Given the description of an element on the screen output the (x, y) to click on. 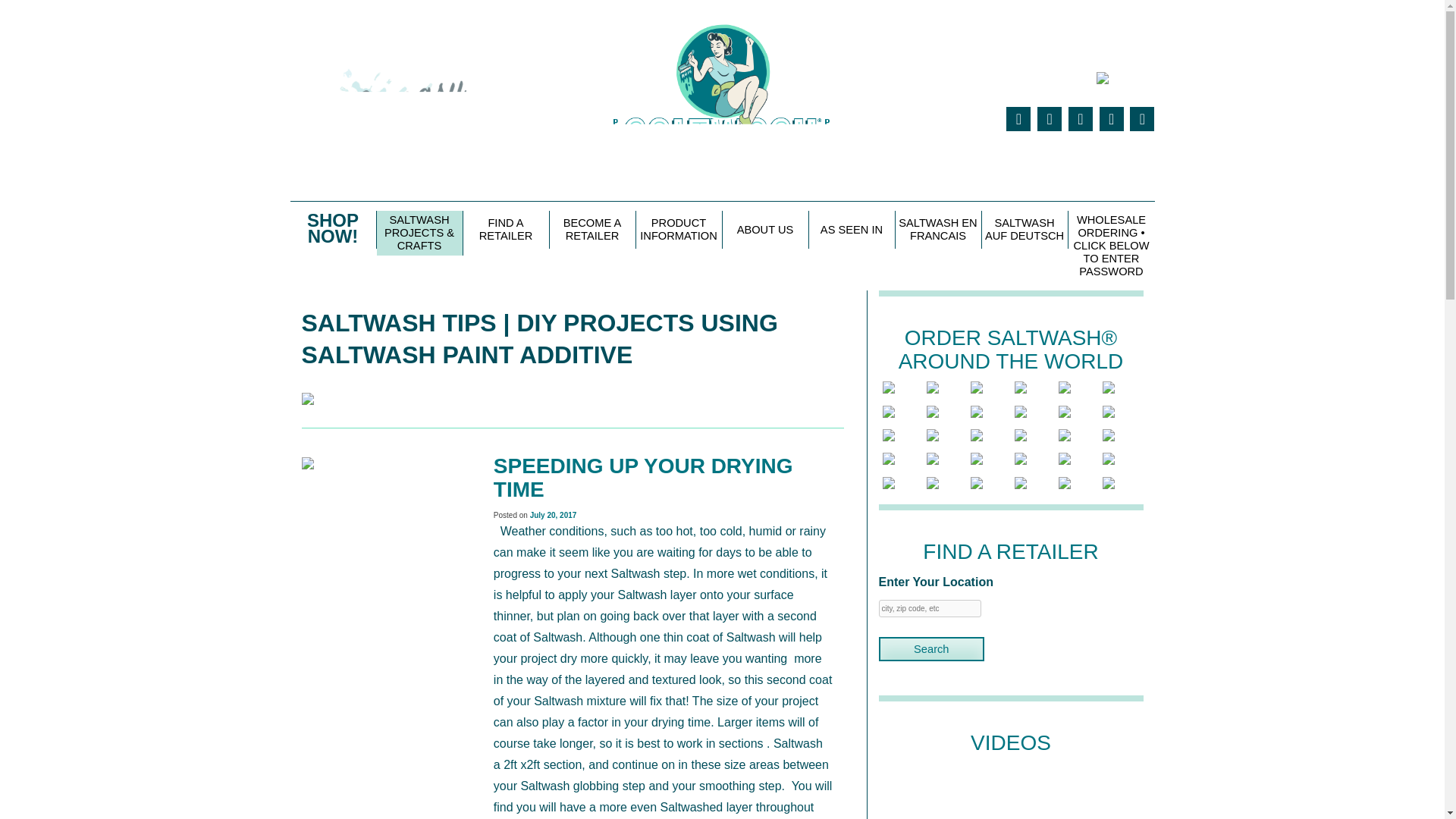
Email (1141, 119)
AS SEEN IN (850, 229)
FIND A RETAILER (505, 229)
Saltwash Projects and Crafts (307, 395)
Facebook (1048, 119)
PRODUCT INFORMATION (677, 229)
BECOME A RETAILER (591, 229)
SHOP NOW! (332, 229)
July 20, 2017 (552, 515)
SPEEDING UP YOUR DRYING TIME (643, 477)
Speeding up your drying time (307, 459)
Speeding up your drying time (643, 477)
YouTube (1111, 119)
Saltwash Paint Additive (720, 98)
Pinterest (1080, 119)
